Given the description of an element on the screen output the (x, y) to click on. 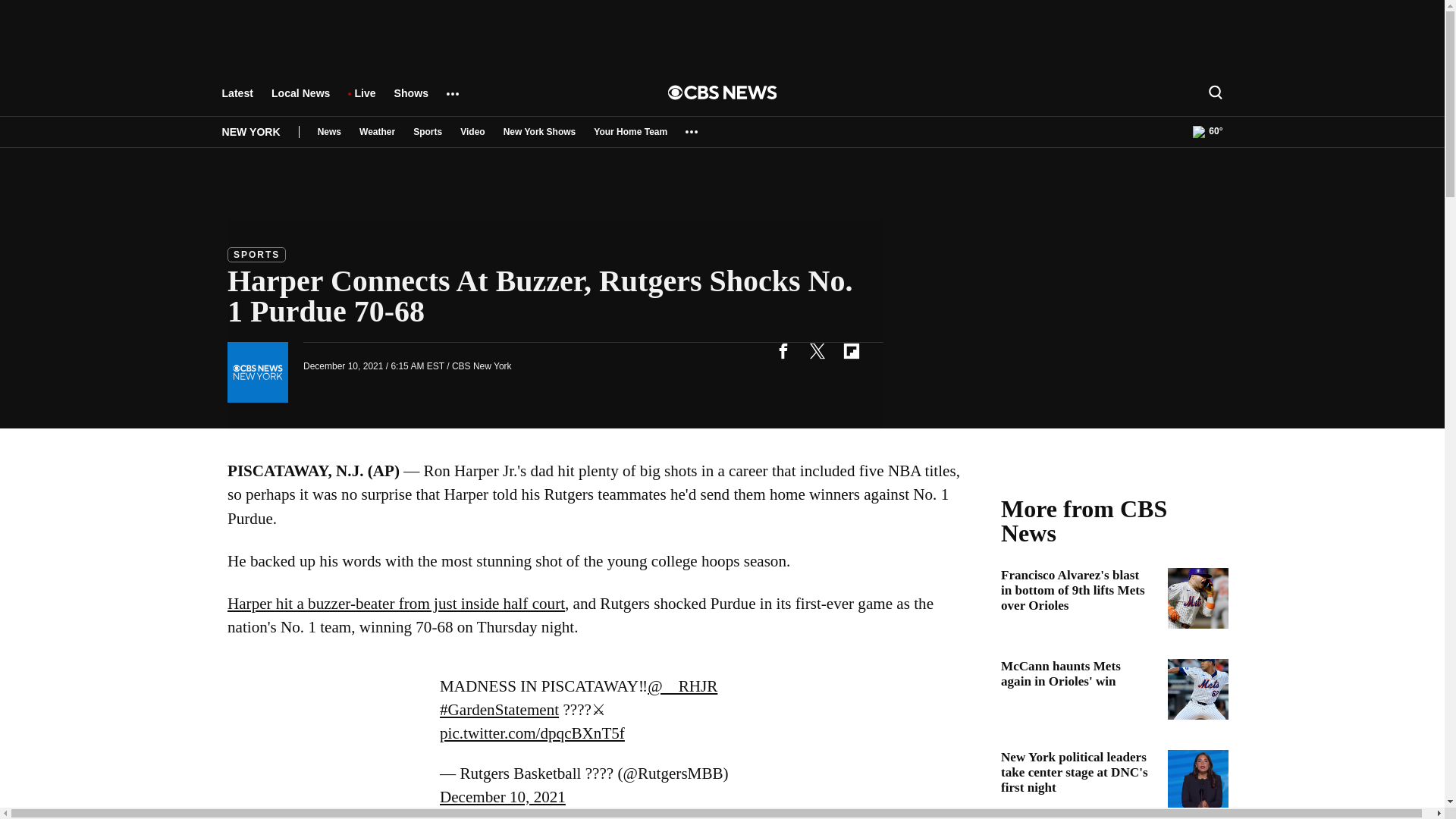
Latest (236, 100)
Local News (300, 100)
facebook (782, 350)
twitter (816, 350)
flipboard (850, 350)
